Given the description of an element on the screen output the (x, y) to click on. 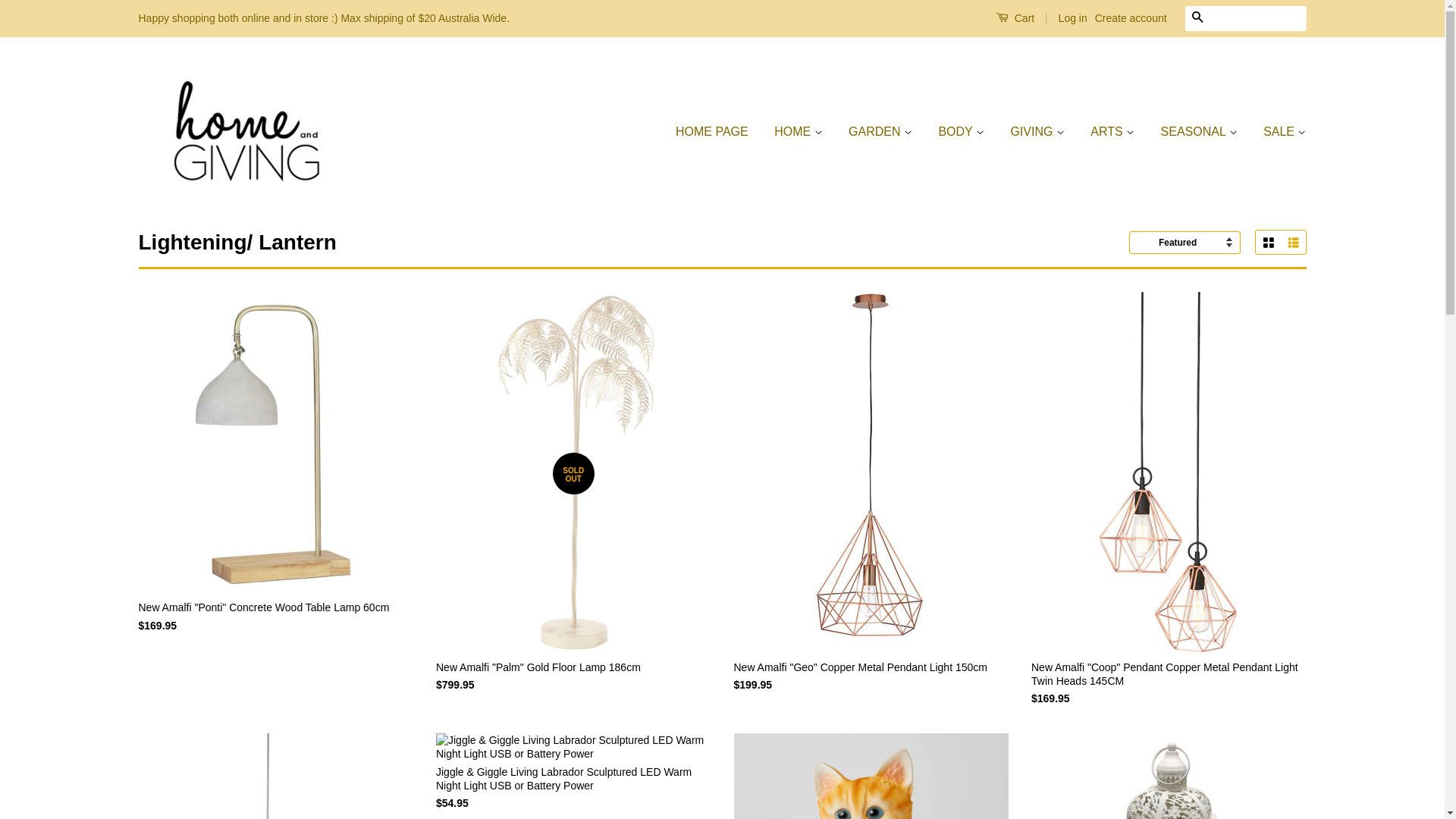
BODY Element type: text (960, 131)
SOLD OUT
New Amalfi "Palm" Gold Floor Lamp 186cm
$799.95 Element type: text (573, 505)
HOME PAGE Element type: text (717, 131)
GARDEN Element type: text (880, 131)
HOME Element type: text (797, 131)
ARTS Element type: text (1112, 131)
New Amalfi "Geo" Copper Metal Pendant Light 150cm
$199.95 Element type: text (871, 505)
SEASONAL Element type: text (1198, 131)
GIVING Element type: text (1036, 131)
Cart Element type: text (1014, 17)
SALE Element type: text (1278, 131)
List View Element type: text (1292, 242)
Log in Element type: text (1072, 18)
Create account Element type: text (1131, 18)
New Amalfi "Ponti" Concrete Wood Table Lamp 60cm
$169.95 Element type: text (275, 475)
Grid View Element type: text (1267, 242)
Search Element type: text (1196, 18)
